Given the description of an element on the screen output the (x, y) to click on. 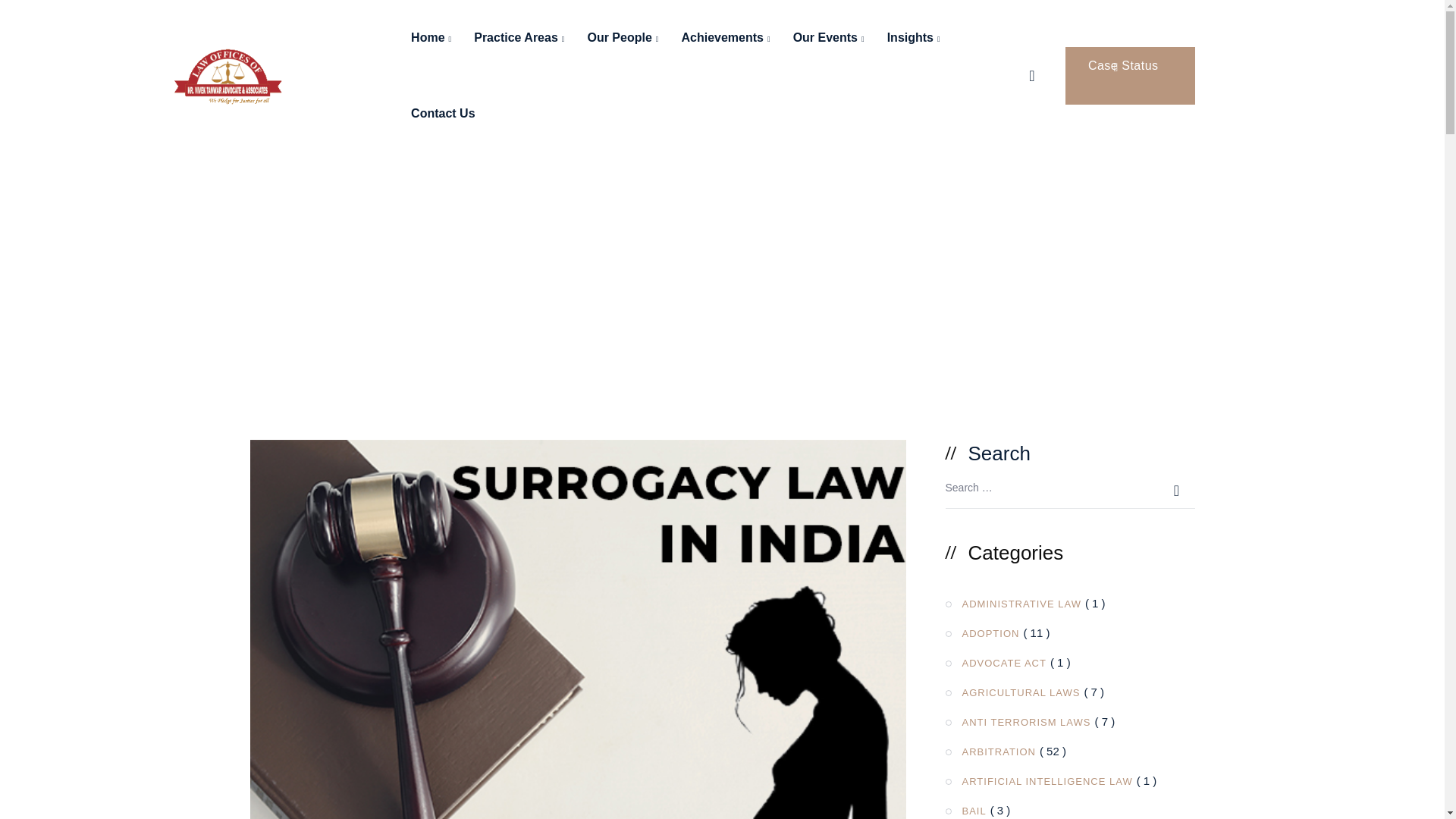
Advocate Tanwar (228, 75)
Practice Areas (519, 38)
Our People (622, 38)
